Given the description of an element on the screen output the (x, y) to click on. 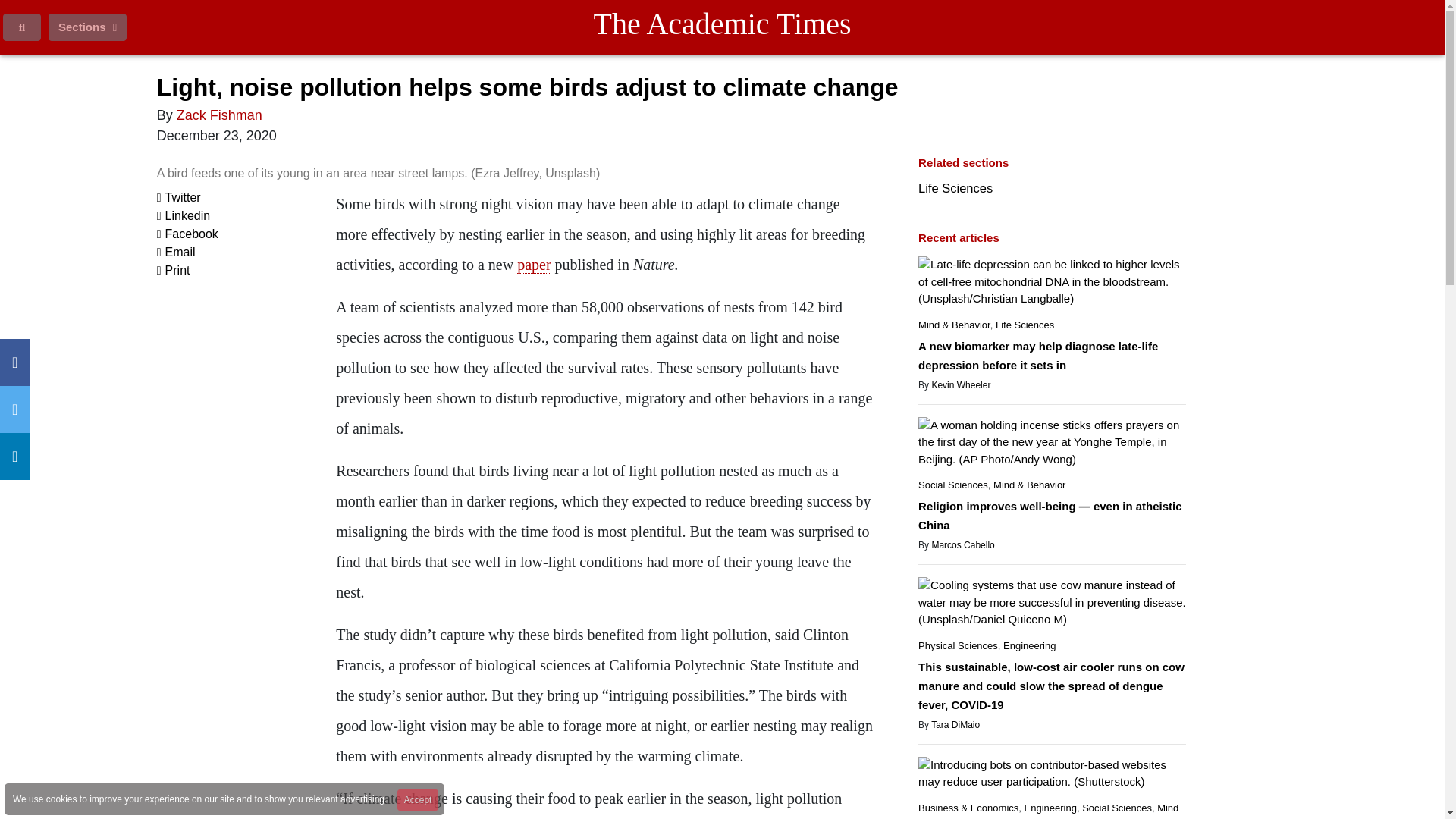
Print article (173, 269)
Share on facebook (187, 233)
Facebook (187, 233)
Twitter (178, 196)
Email (176, 251)
Search (21, 27)
Share on twitter (178, 196)
Linkedin (183, 215)
Sections (87, 27)
Share on linkedin (183, 215)
Print (173, 269)
Zack Fishman (219, 114)
The Academic Times (722, 23)
Send email (176, 251)
